Given the description of an element on the screen output the (x, y) to click on. 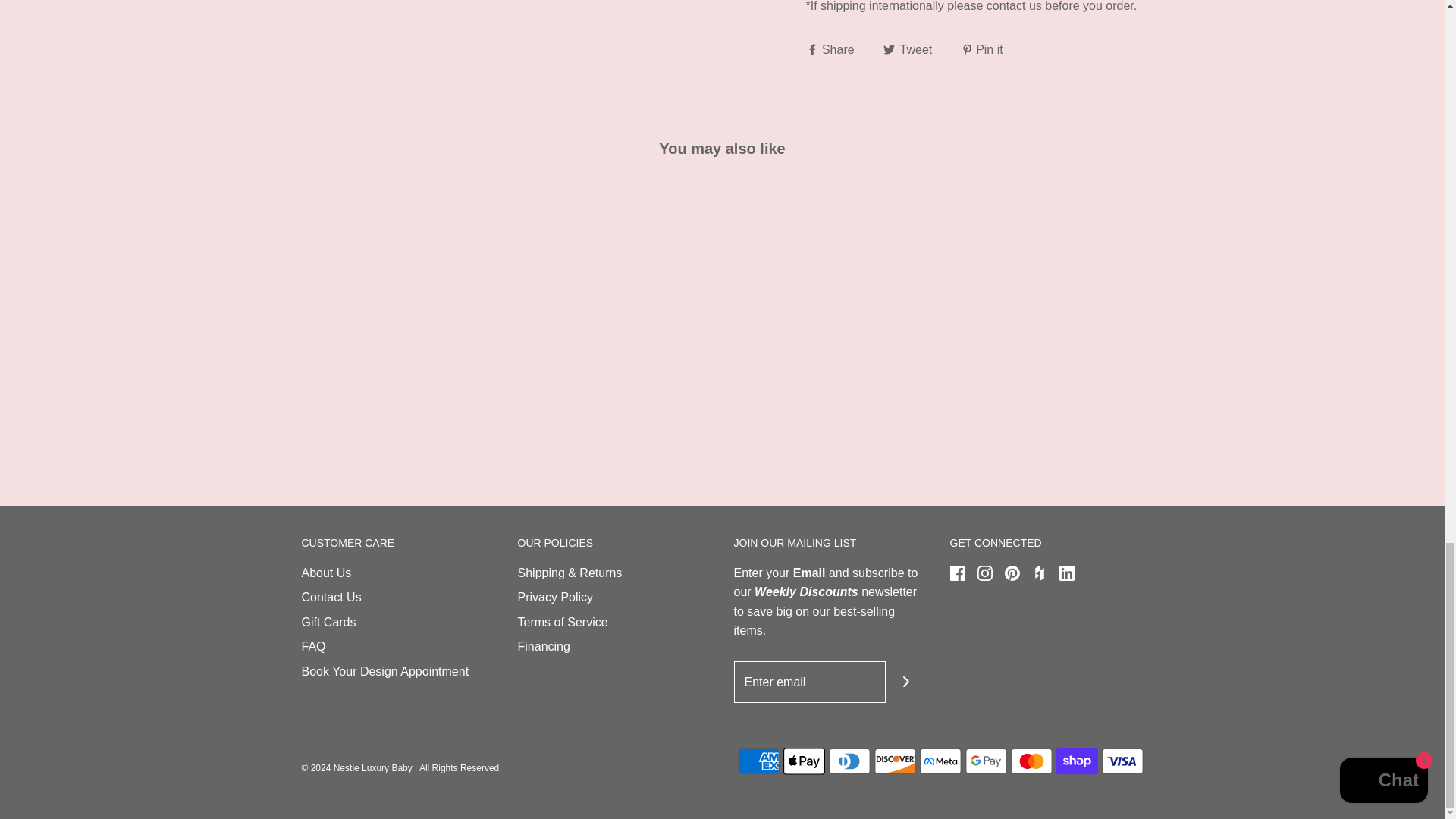
Facebook icon (956, 572)
